Given the description of an element on the screen output the (x, y) to click on. 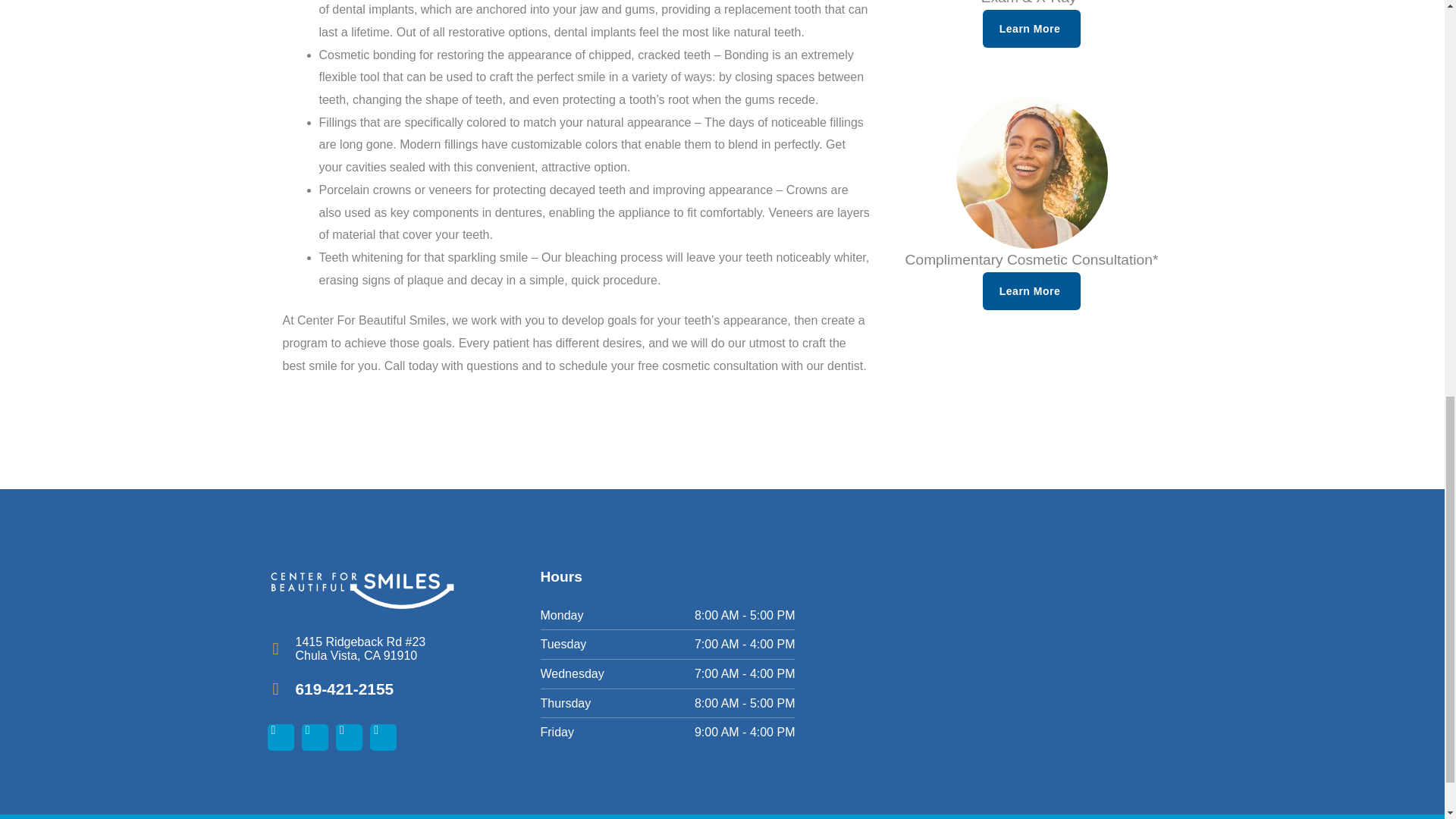
young-african-woman-smiling-at-sunset (1030, 172)
Google (349, 737)
Learn More (1031, 28)
Yelp (382, 737)
Center For Beautiful Smiles Chula Vista CA (1021, 660)
Learn More (1031, 290)
619-421-2155 (344, 688)
Facebook-f (280, 737)
Instagram (315, 737)
